Given the description of an element on the screen output the (x, y) to click on. 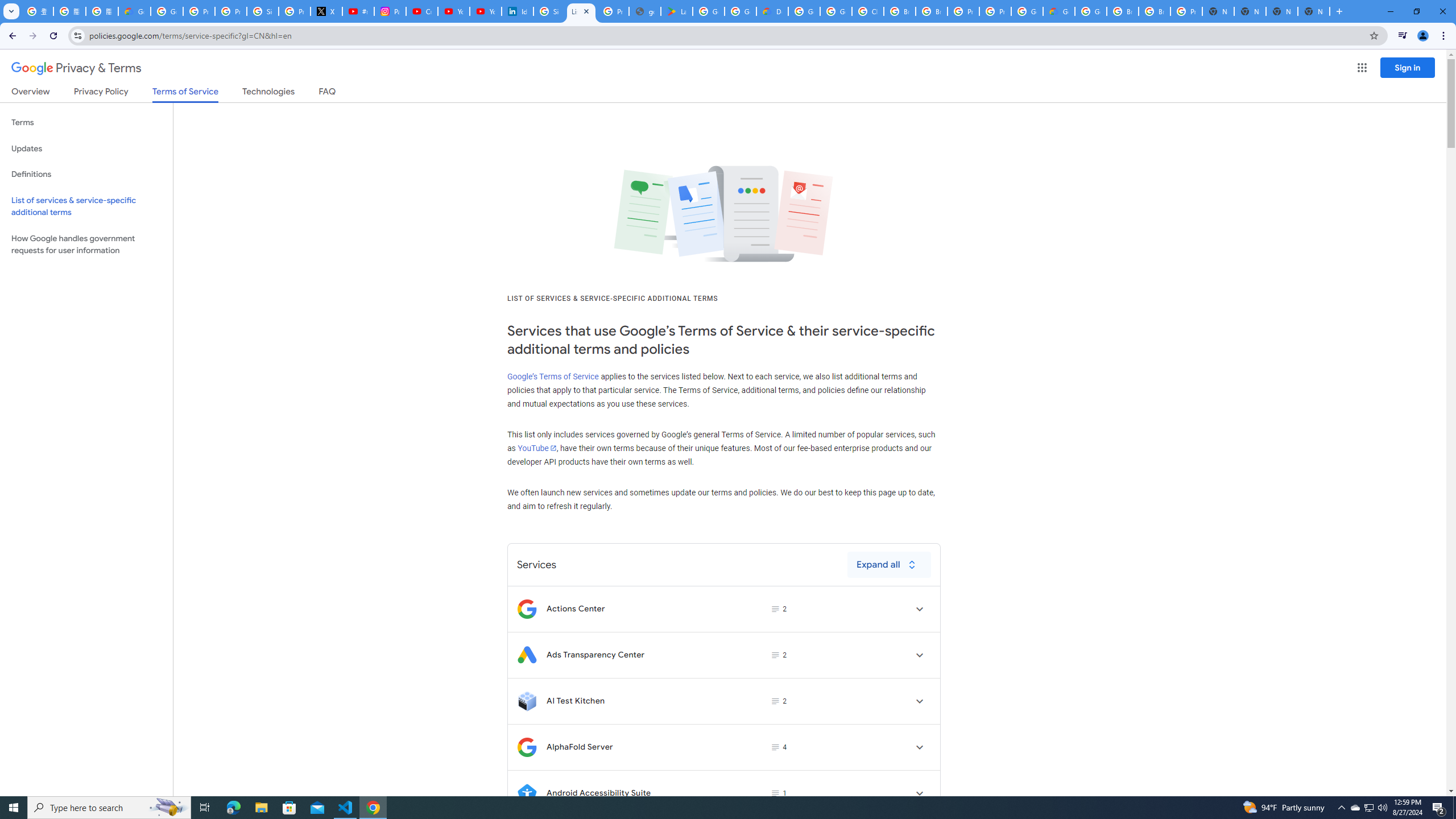
Google Cloud Privacy Notice (134, 11)
Definitions (86, 174)
New Tab (1281, 11)
New Tab (1217, 11)
Google Cloud Estimate Summary (1059, 11)
Last Shelter: Survival - Apps on Google Play (676, 11)
Browse Chrome as a guest - Computer - Google Chrome Help (899, 11)
